Given the description of an element on the screen output the (x, y) to click on. 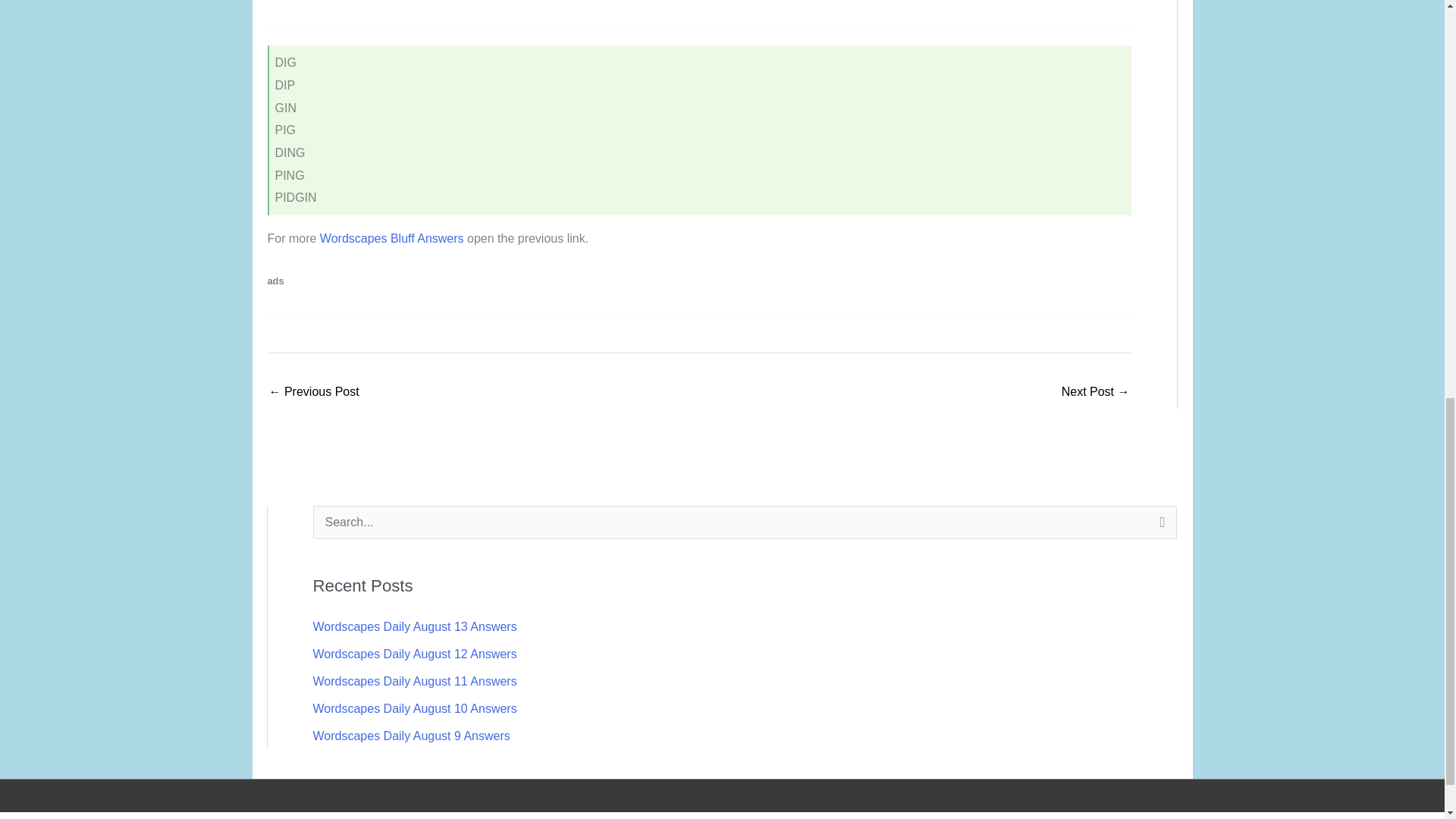
Wordscapes Daily August 9 Answers (411, 735)
Wordscapes Daily August 10 Answers (414, 707)
Wordscapes Daily August 11 Answers (414, 680)
Wordscapes 5751 Answers Bluff Vista 7 (1095, 393)
Wordscapes Daily August 12 Answers (414, 653)
Wordscapes Bluff Answers (392, 237)
Advertisement (393, 9)
Wordscapes 5737 Answers Bluff Flock 9 (312, 393)
Wordscapes Daily August 13 Answers (414, 626)
